Given the description of an element on the screen output the (x, y) to click on. 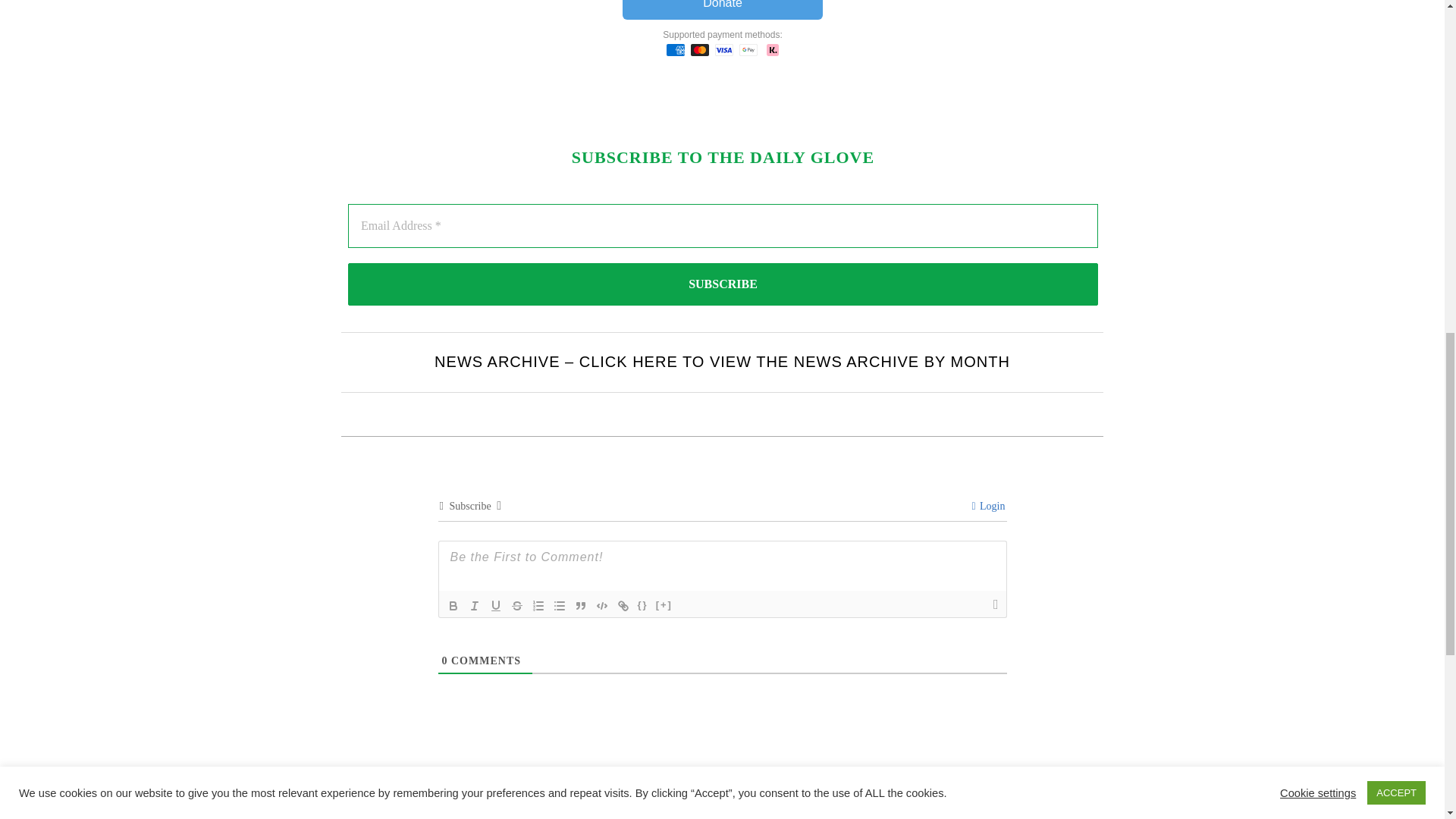
Ordered List (537, 606)
SUBSCRIBE (722, 283)
Email Address (722, 225)
Italic (474, 606)
Strike (516, 606)
Underline (495, 606)
Bold (453, 606)
